Given the description of an element on the screen output the (x, y) to click on. 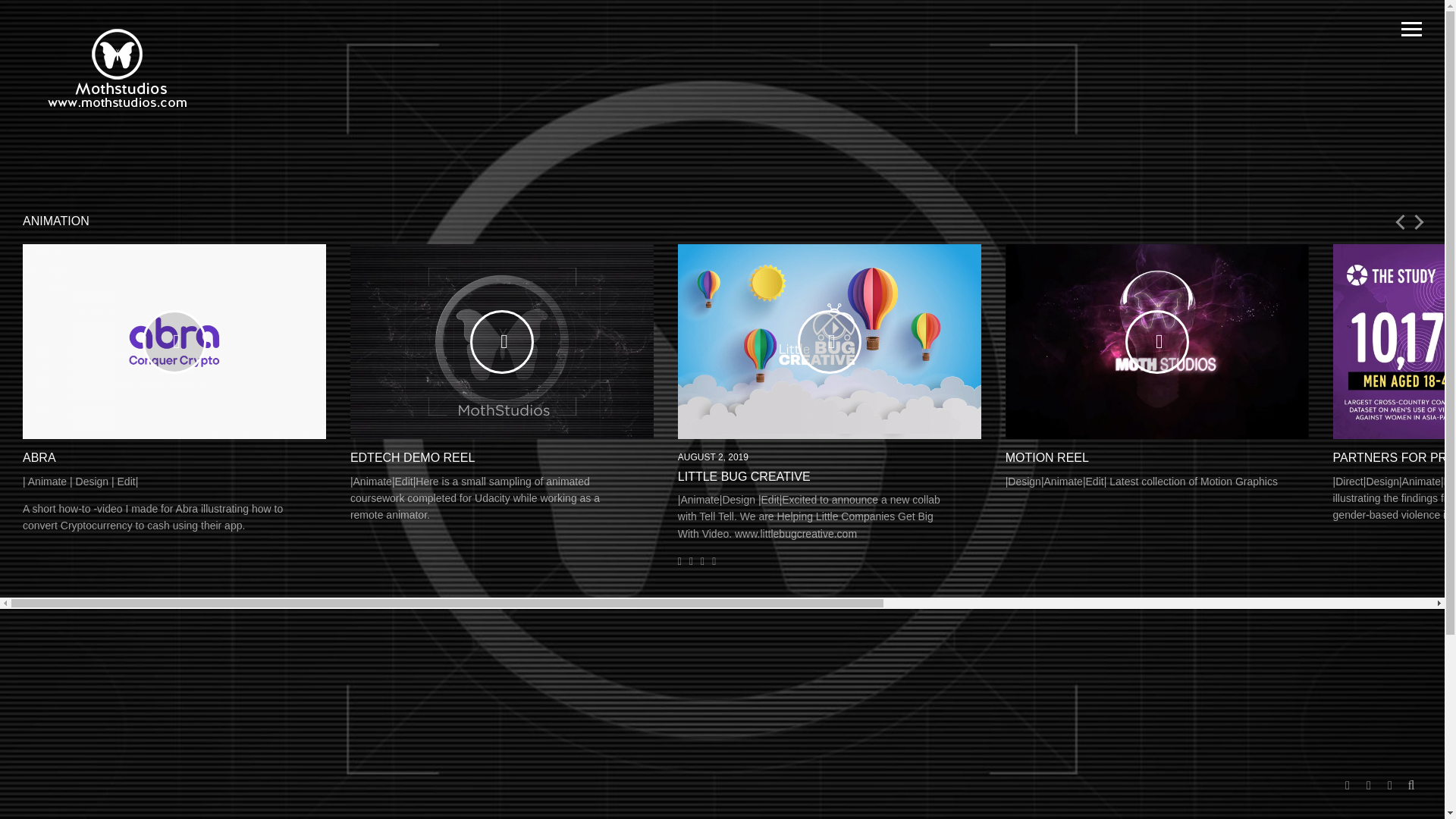
ME (219, 787)
